Given the description of an element on the screen output the (x, y) to click on. 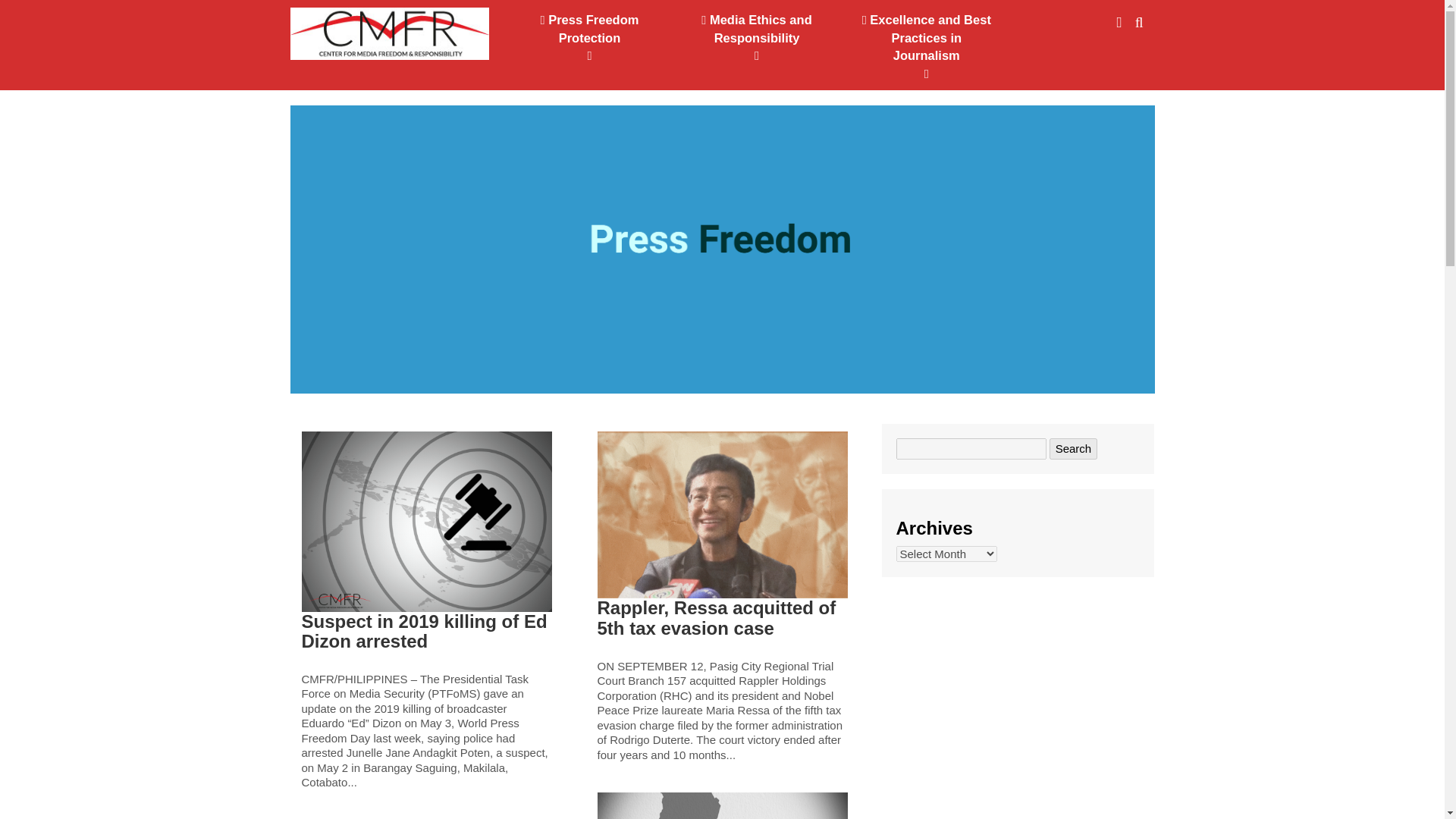
Press Freedom Protection (589, 38)
Search (1073, 448)
Search (1073, 448)
Excellence and Best Practices in Journalism (925, 47)
Media Ethics and Responsibility (755, 38)
